Given the description of an element on the screen output the (x, y) to click on. 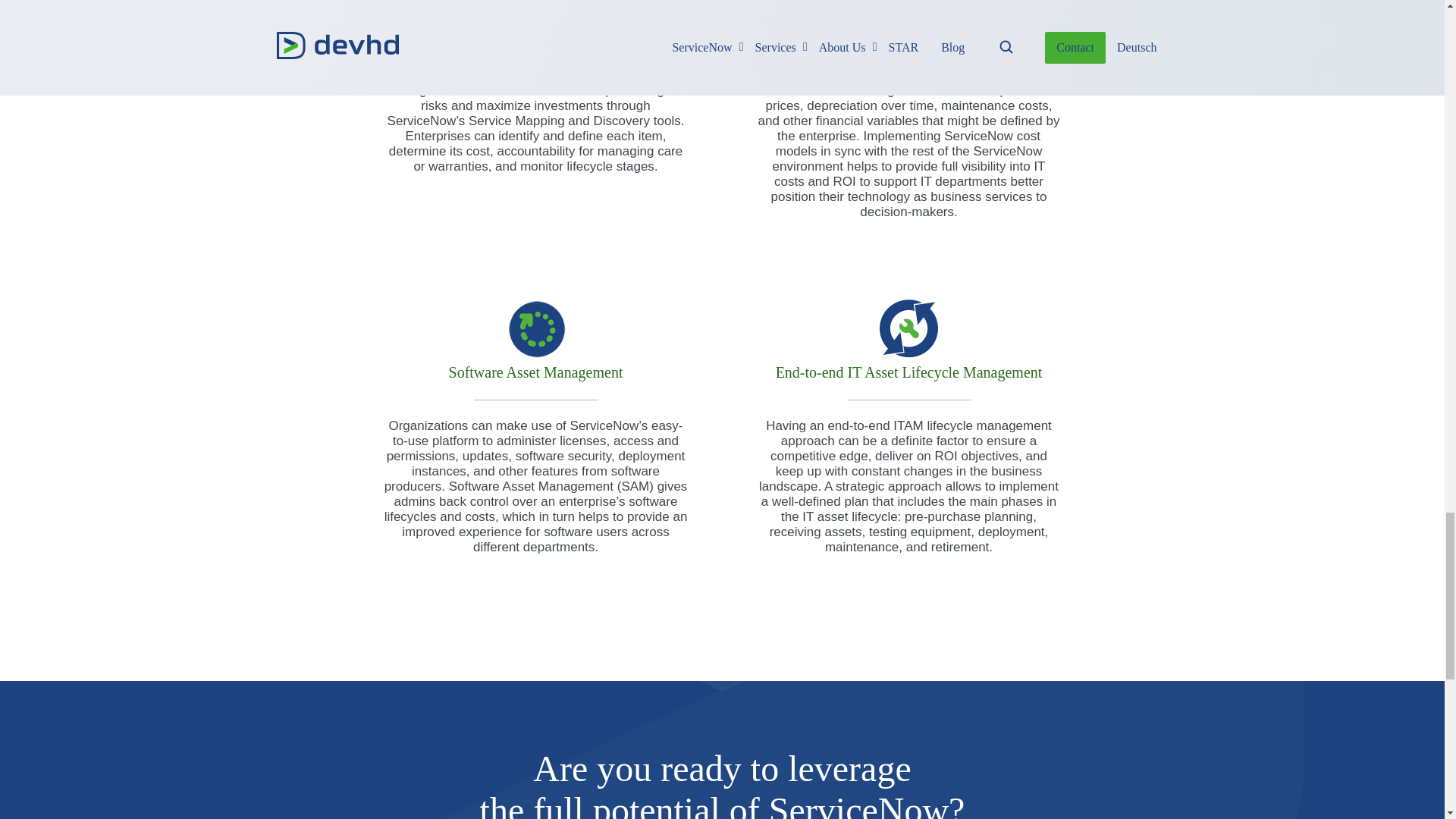
End-to-end IT Asset  Lifecycle Management (908, 327)
Software  Asset Management (536, 327)
Financial  Asset Management (908, 14)
Tracking  available assets (536, 14)
